Given the description of an element on the screen output the (x, y) to click on. 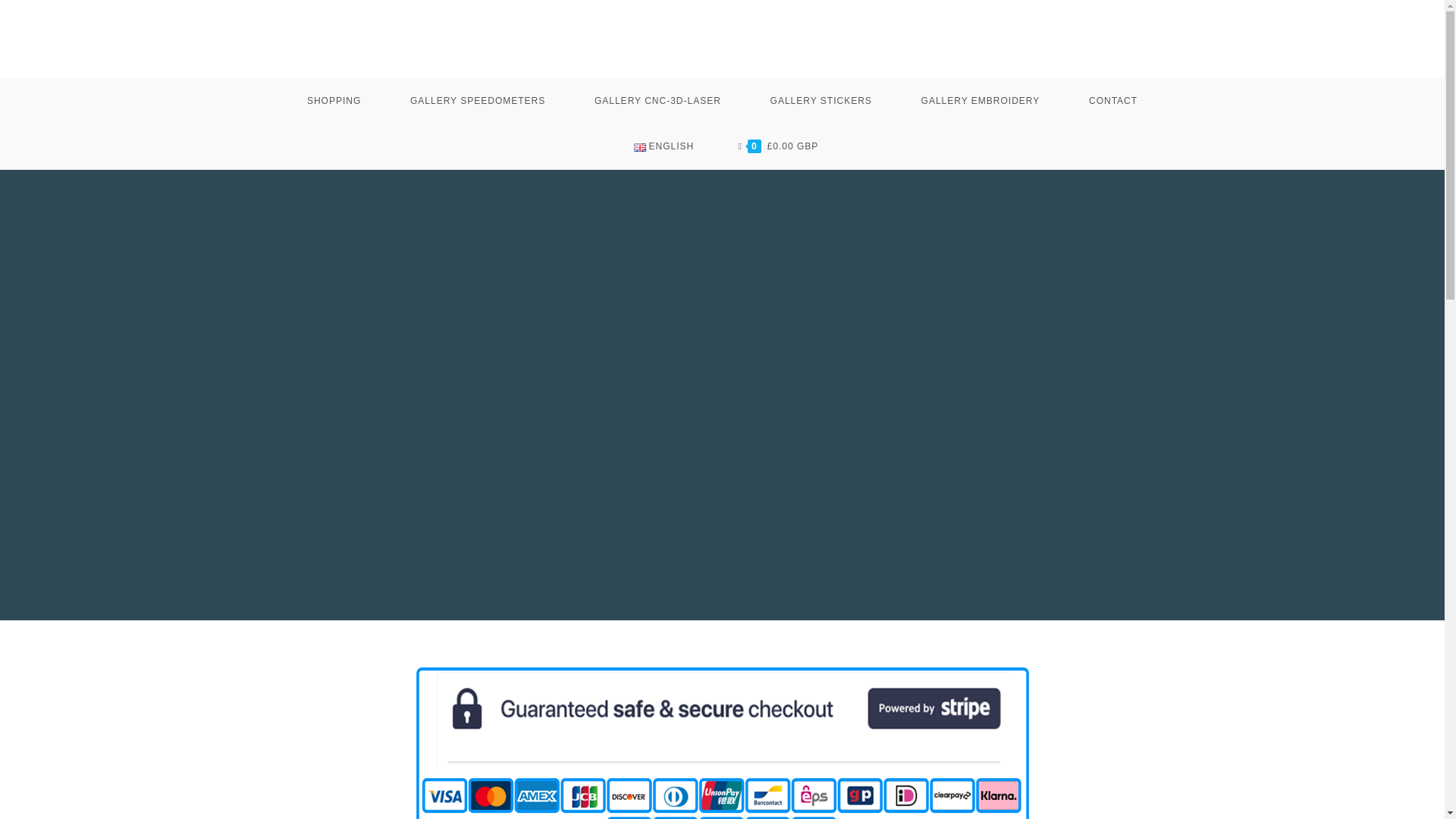
BSEDESIGN INVENTIONS-IDEAS LTD (721, 38)
SHOPPING (333, 100)
